Given the description of an element on the screen output the (x, y) to click on. 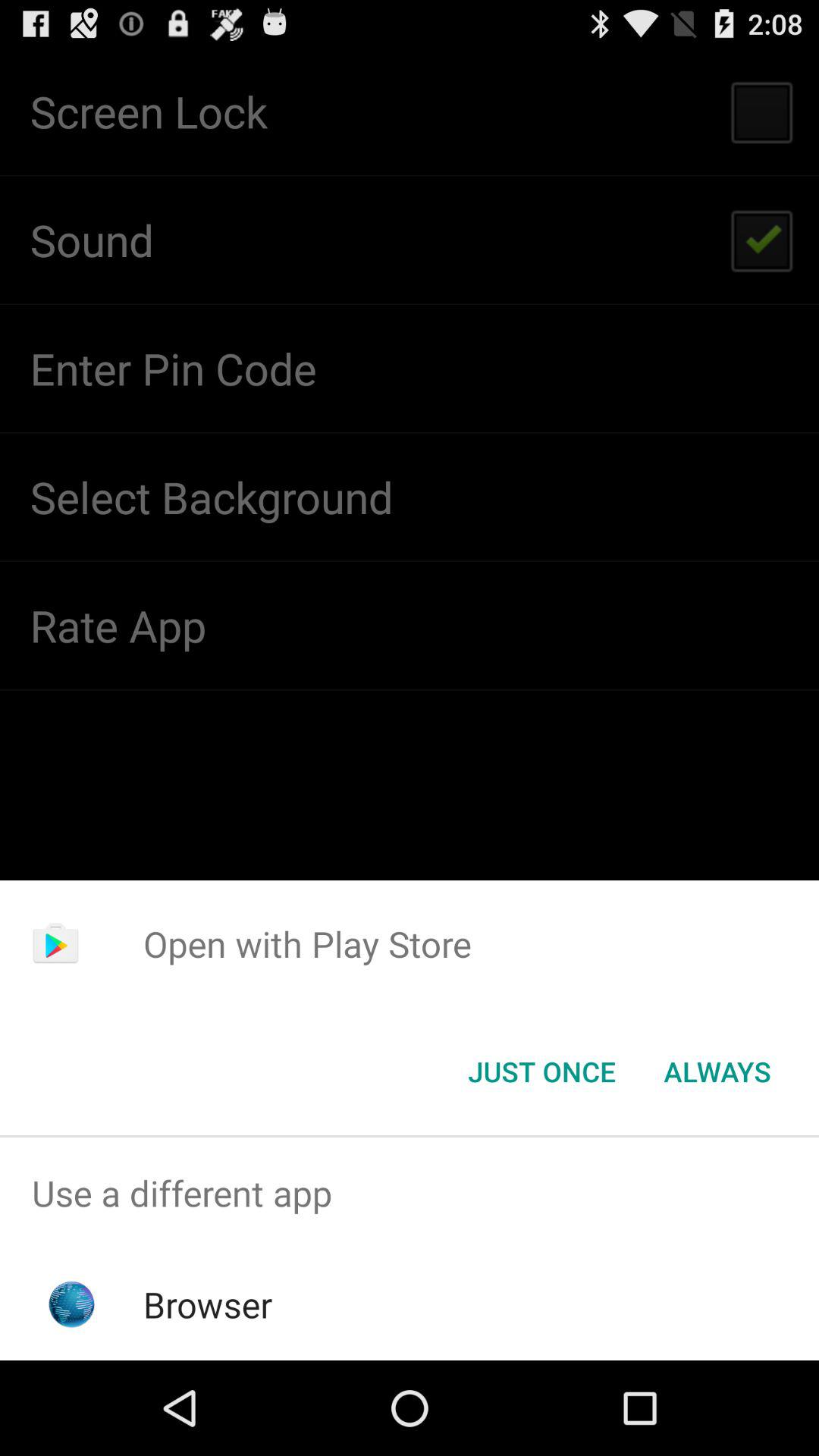
swipe to browser (207, 1304)
